Given the description of an element on the screen output the (x, y) to click on. 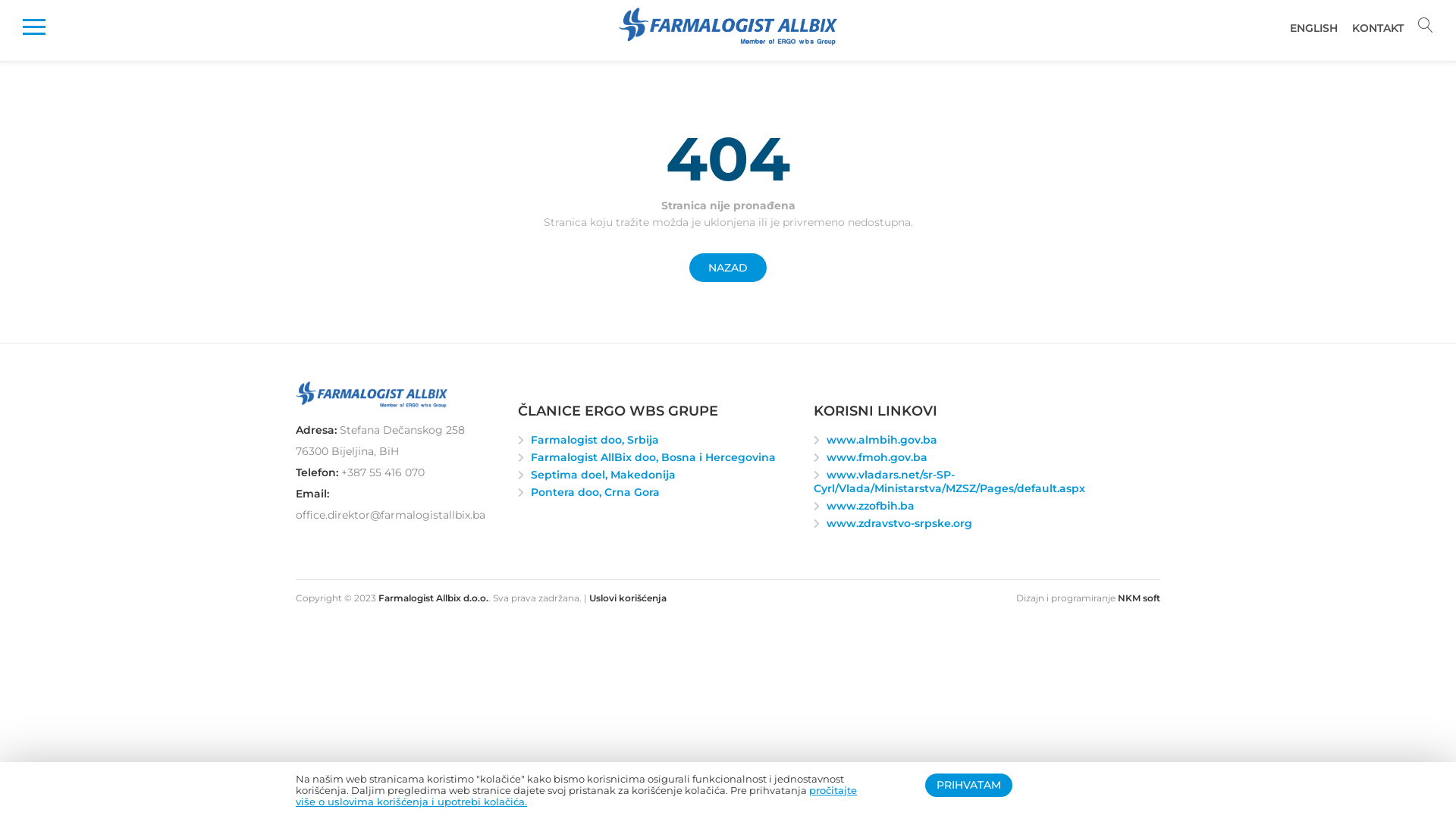
www.zzofbih.ba Element type: text (870, 505)
ENGLISH Element type: text (1307, 27)
Farmalogist Allbix d.o.o. Element type: hover (727, 26)
Farmalogist AllBix doo, Bosna i Hercegovina Element type: text (652, 457)
NAZAD Element type: text (727, 267)
PRIHVATAM Element type: text (968, 785)
Farmalogist doo, Srbija Element type: text (594, 439)
www.fmoh.gov.ba Element type: text (876, 457)
www.almbih.gov.ba Element type: text (881, 439)
Pontera doo, Crna Gora Element type: text (594, 491)
Septima doel, Makedonija Element type: text (602, 474)
NKM soft Element type: text (1138, 597)
KONTAKT Element type: text (1371, 27)
www.zdravstvo-srpske.org Element type: text (899, 523)
